Given the description of an element on the screen output the (x, y) to click on. 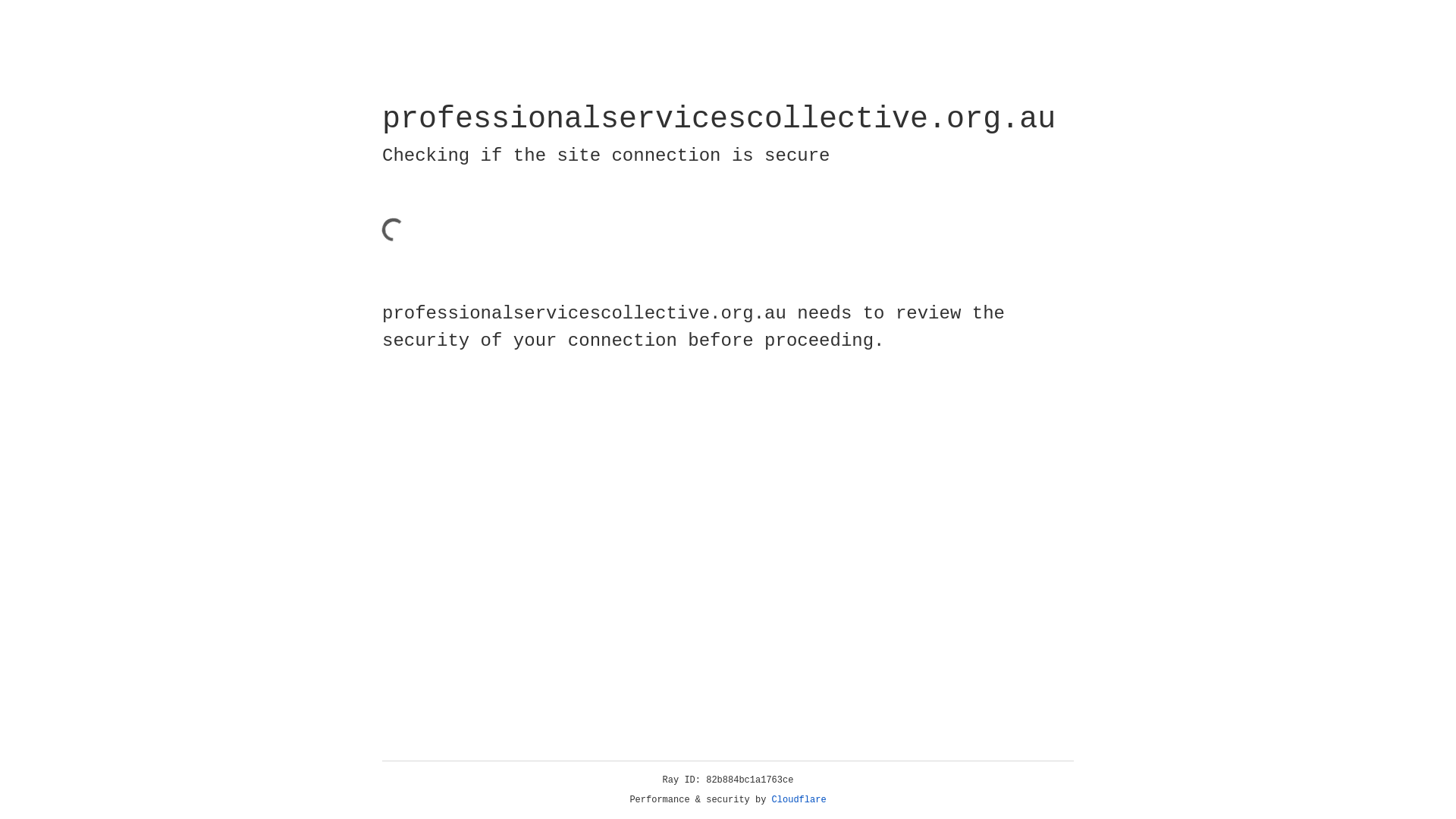
Cloudflare Element type: text (798, 799)
